Given the description of an element on the screen output the (x, y) to click on. 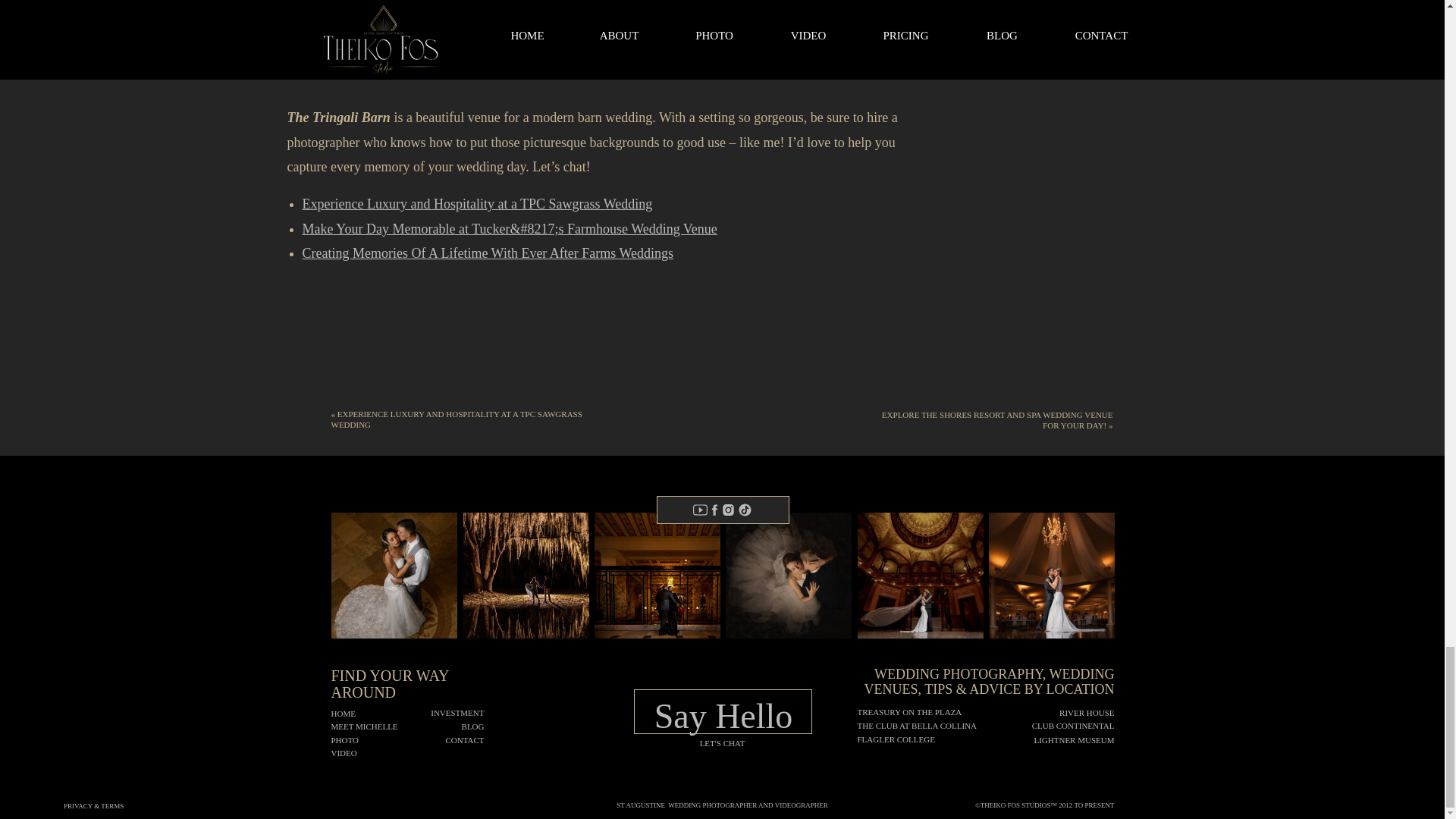
Experience Luxury and Hospitality at a TPC Sawgrass Wedding (476, 203)
EXPERIENCE LUXURY AND HOSPITALITY AT A TPC SAWGRASS WEDDING (455, 419)
